Given the description of an element on the screen output the (x, y) to click on. 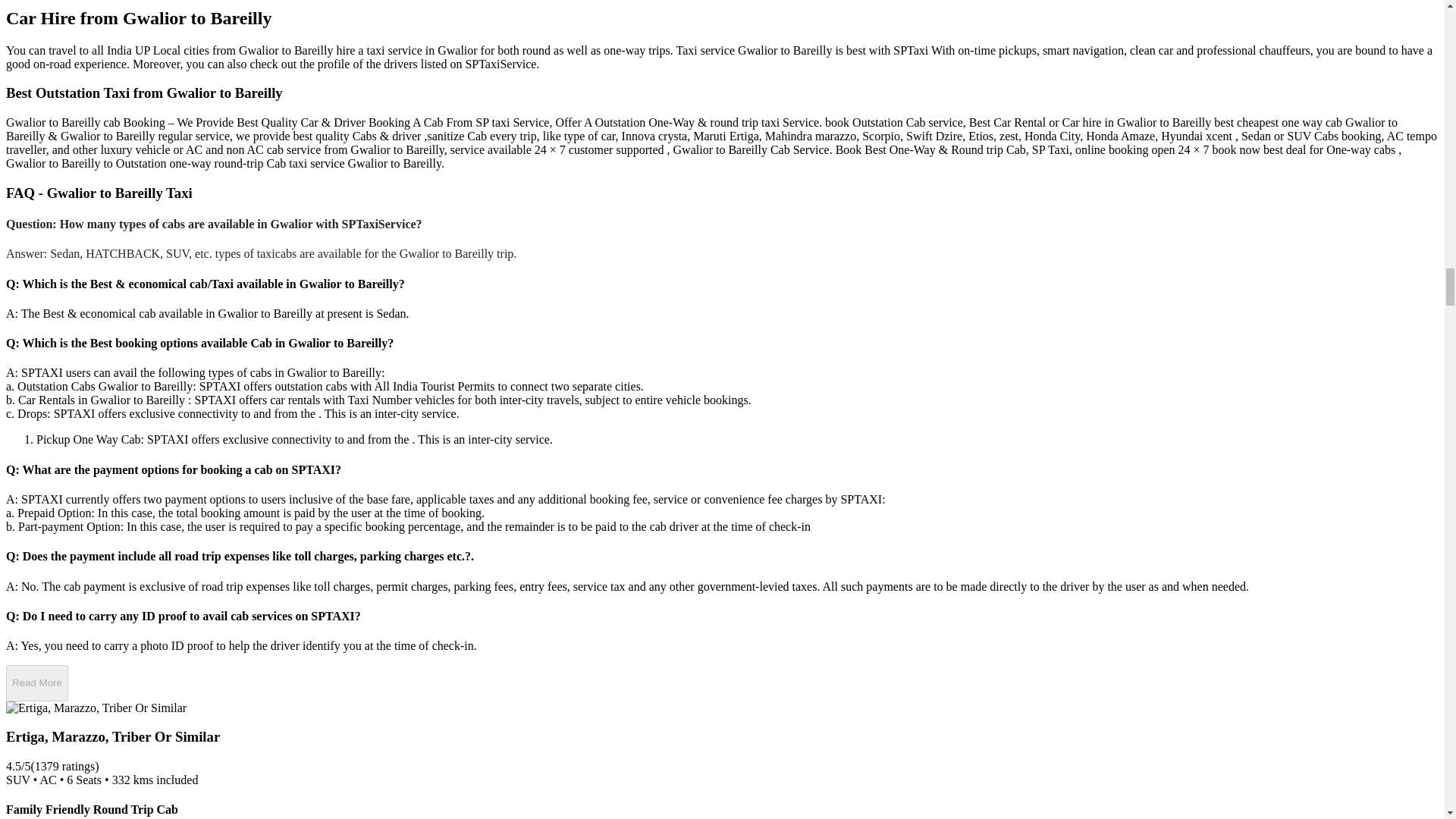
Read More (36, 683)
